Given the description of an element on the screen output the (x, y) to click on. 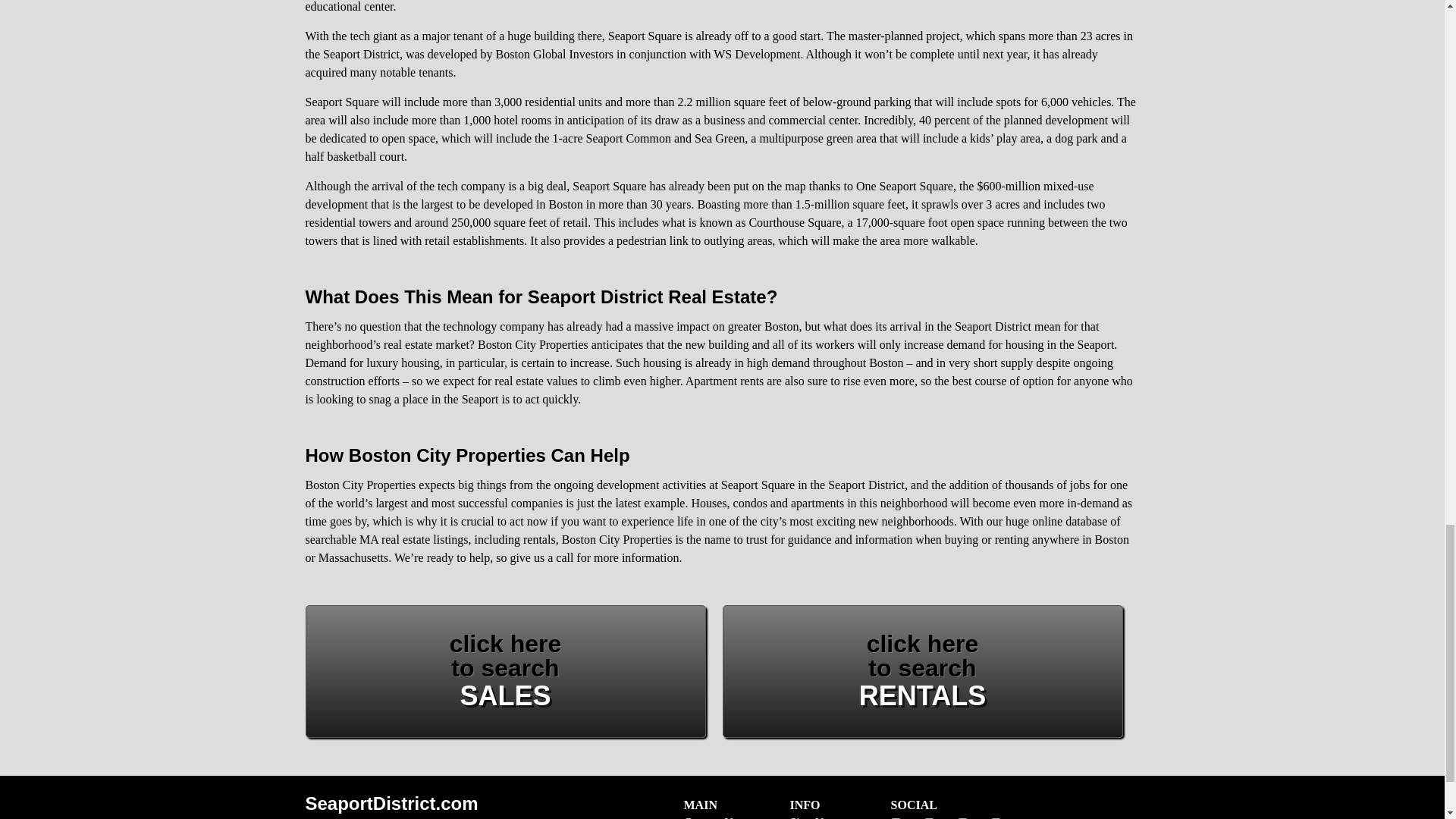
Sign Up (809, 817)
Contact Us (504, 671)
SeaportDistrict.com (711, 817)
